Given the description of an element on the screen output the (x, y) to click on. 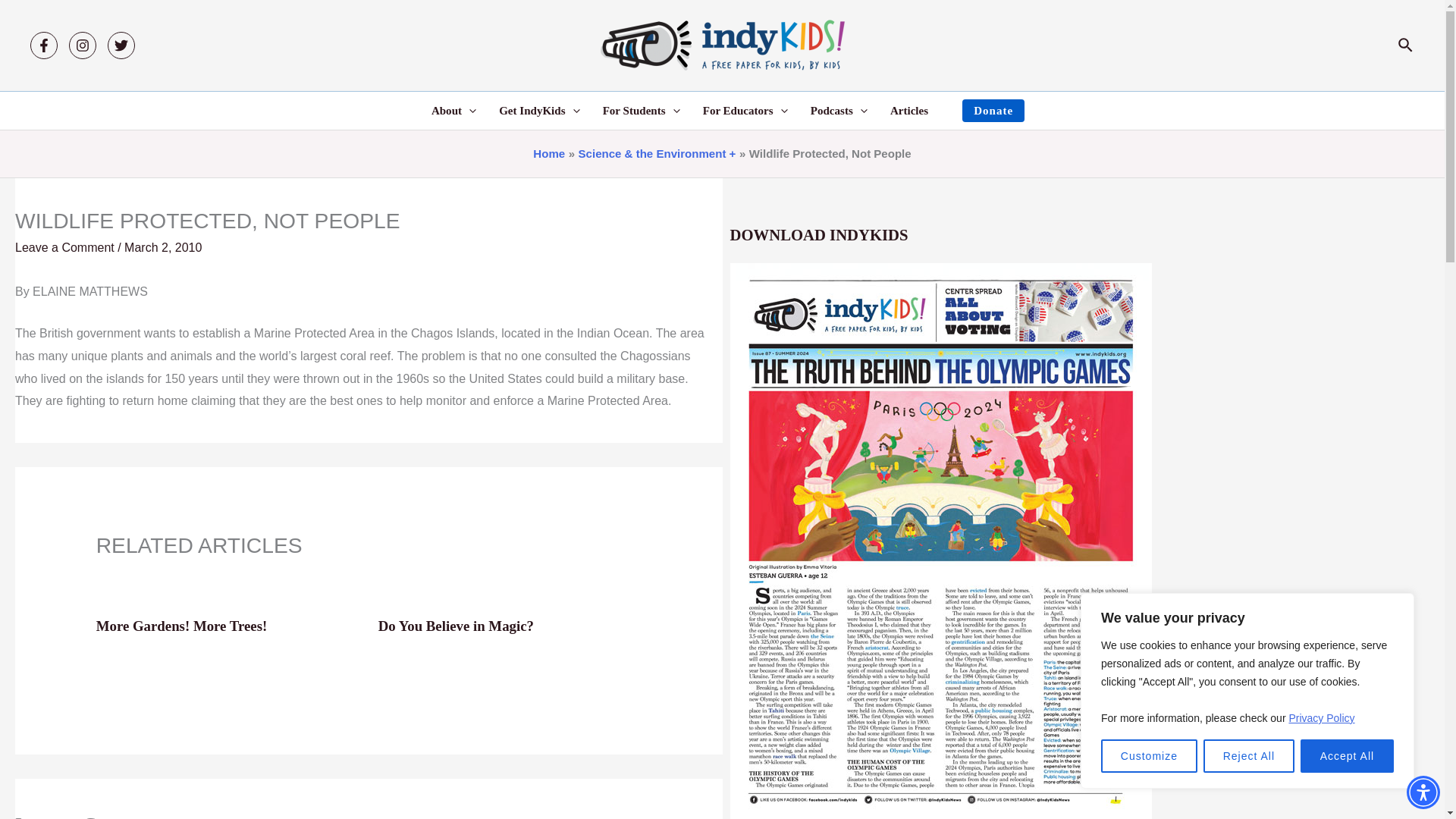
For Students (641, 110)
Podcasts (839, 110)
Privacy Policy (1321, 717)
For Educators (745, 110)
Accessibility Menu (1422, 792)
Reject All (1249, 756)
Accept All (1346, 756)
About (453, 110)
Customize (1148, 756)
Get IndyKids (539, 110)
